Given the description of an element on the screen output the (x, y) to click on. 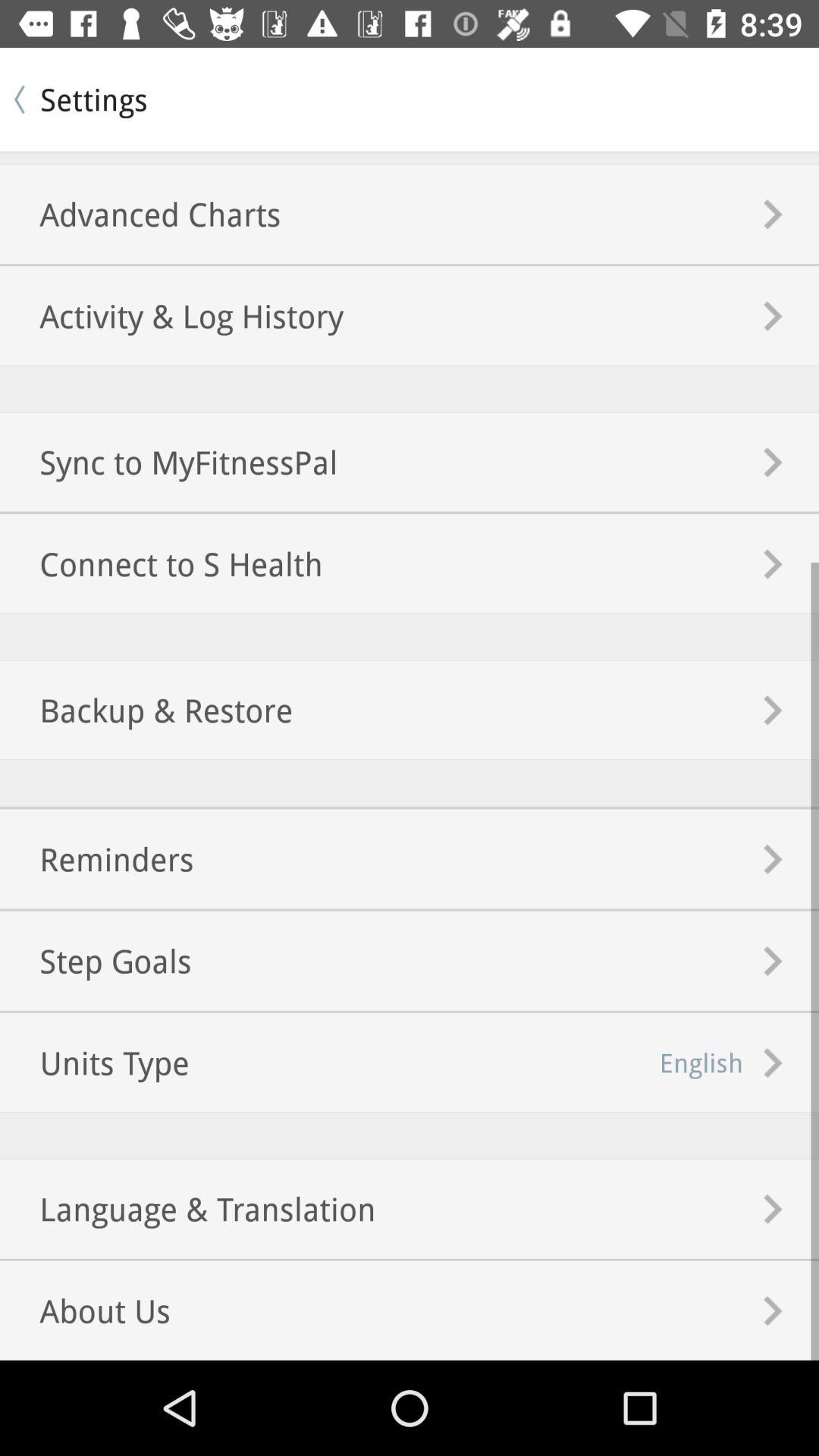
open the icon next to step goals icon (701, 1062)
